Given the description of an element on the screen output the (x, y) to click on. 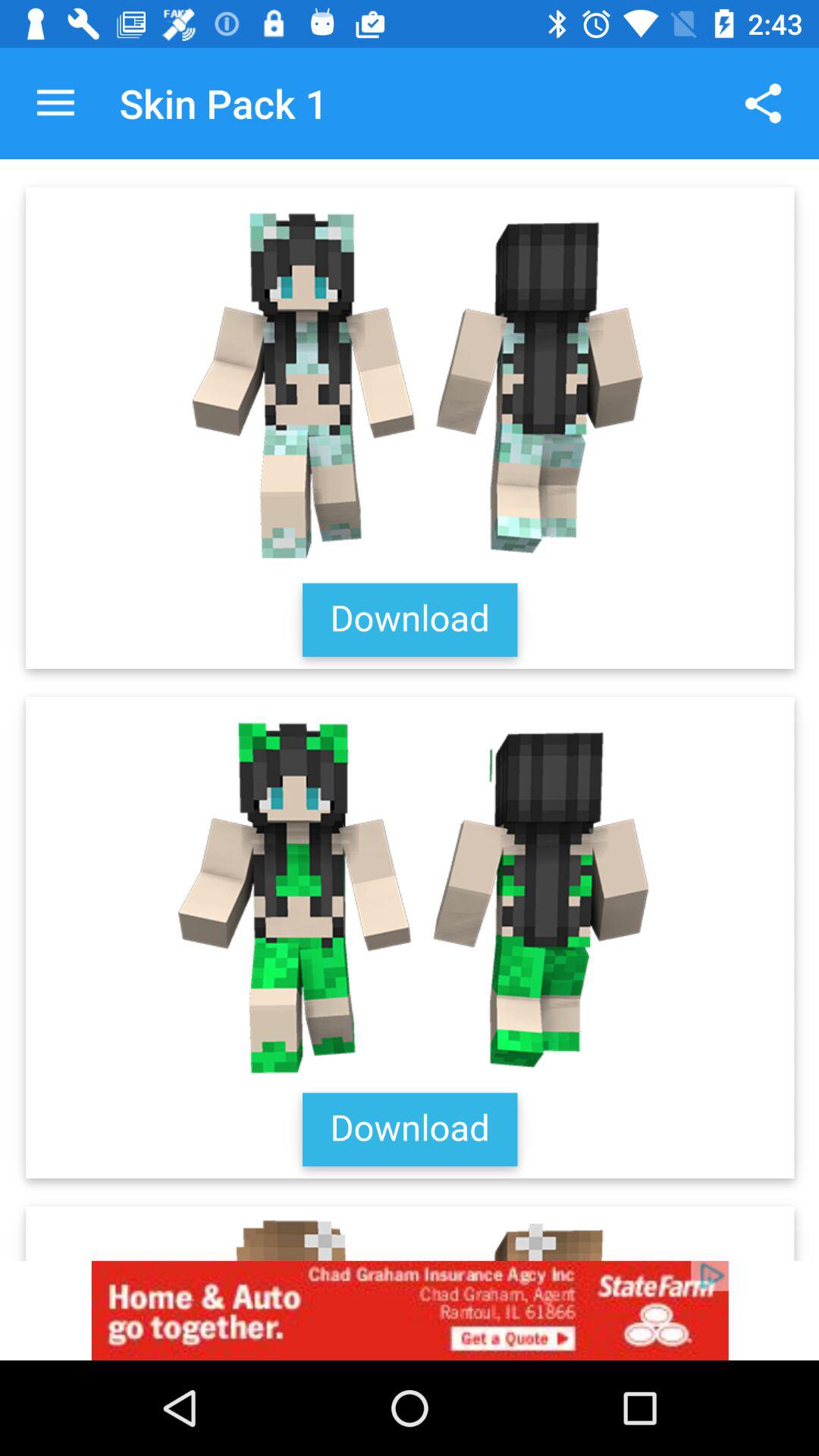
download skin pack (409, 709)
